Given the description of an element on the screen output the (x, y) to click on. 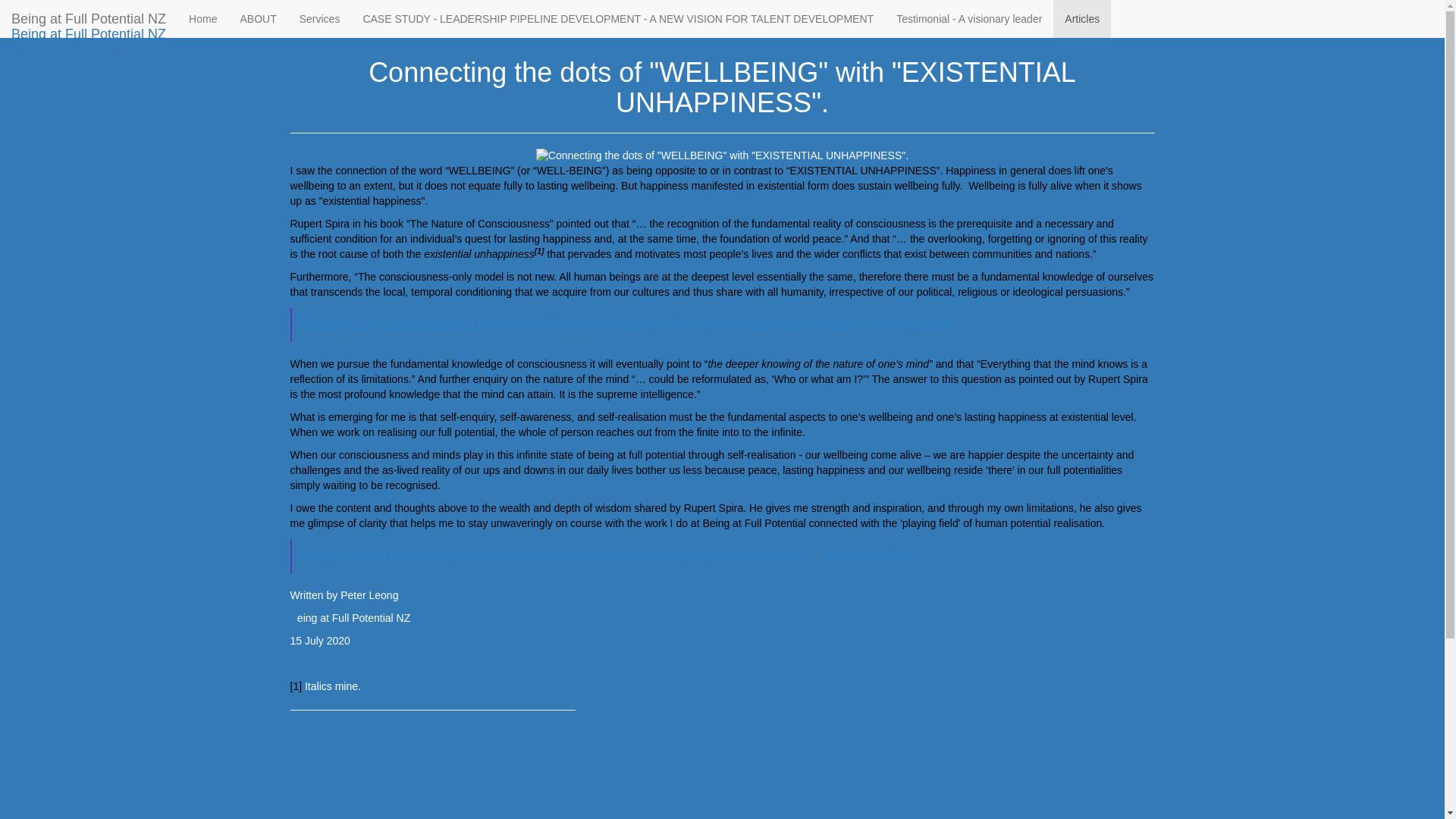
Articles (348, 12)
B (293, 617)
Articles (1081, 18)
Being at Full Potential NZ (88, 18)
Services (320, 18)
ABOUT (257, 18)
Testimonial - A visionary leader (968, 18)
Home (202, 18)
Being at Full Potential NZ (88, 34)
Home (303, 12)
